Given the description of an element on the screen output the (x, y) to click on. 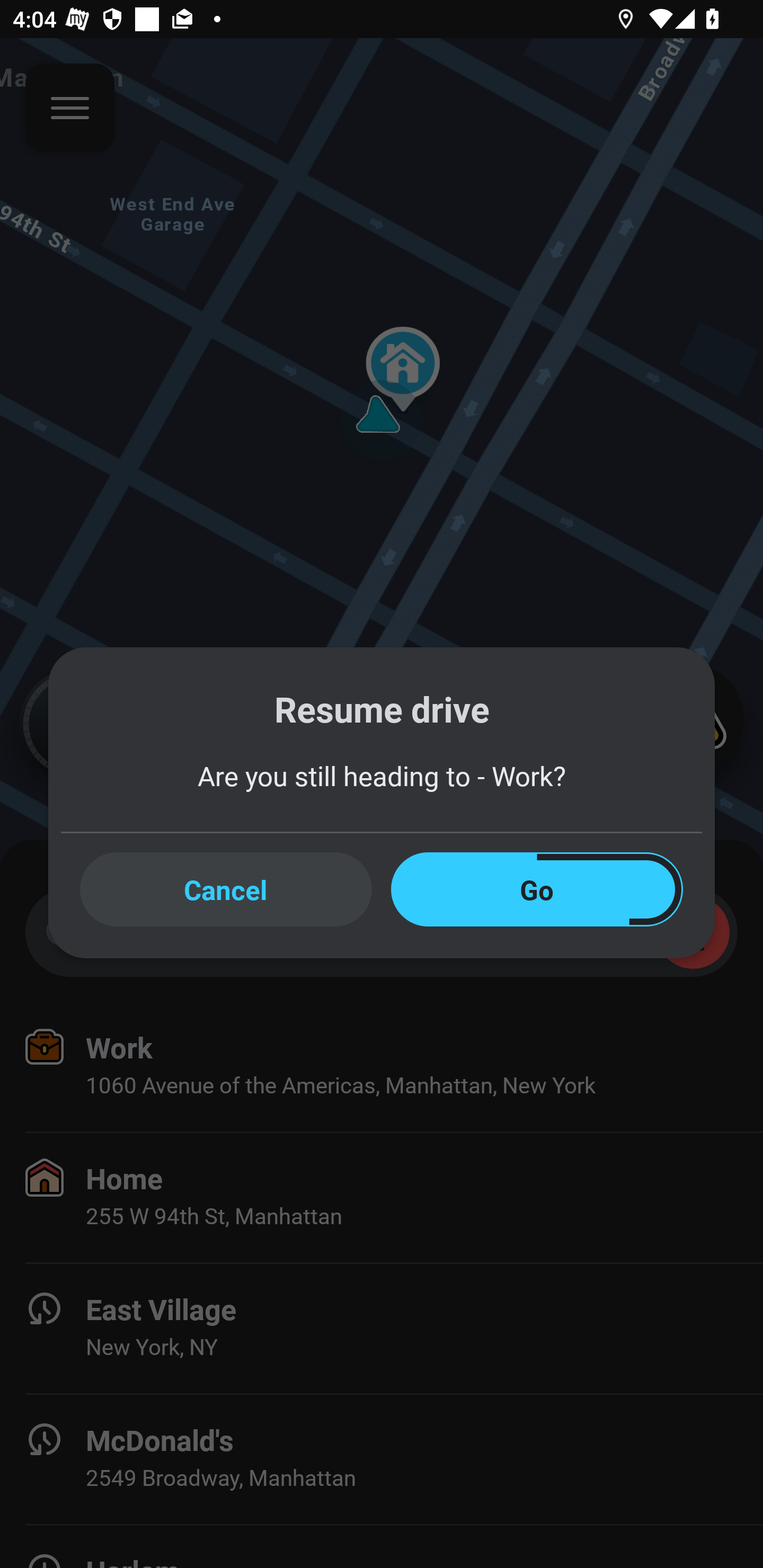
Cancel (225, 888)
Go (536, 888)
